Given the description of an element on the screen output the (x, y) to click on. 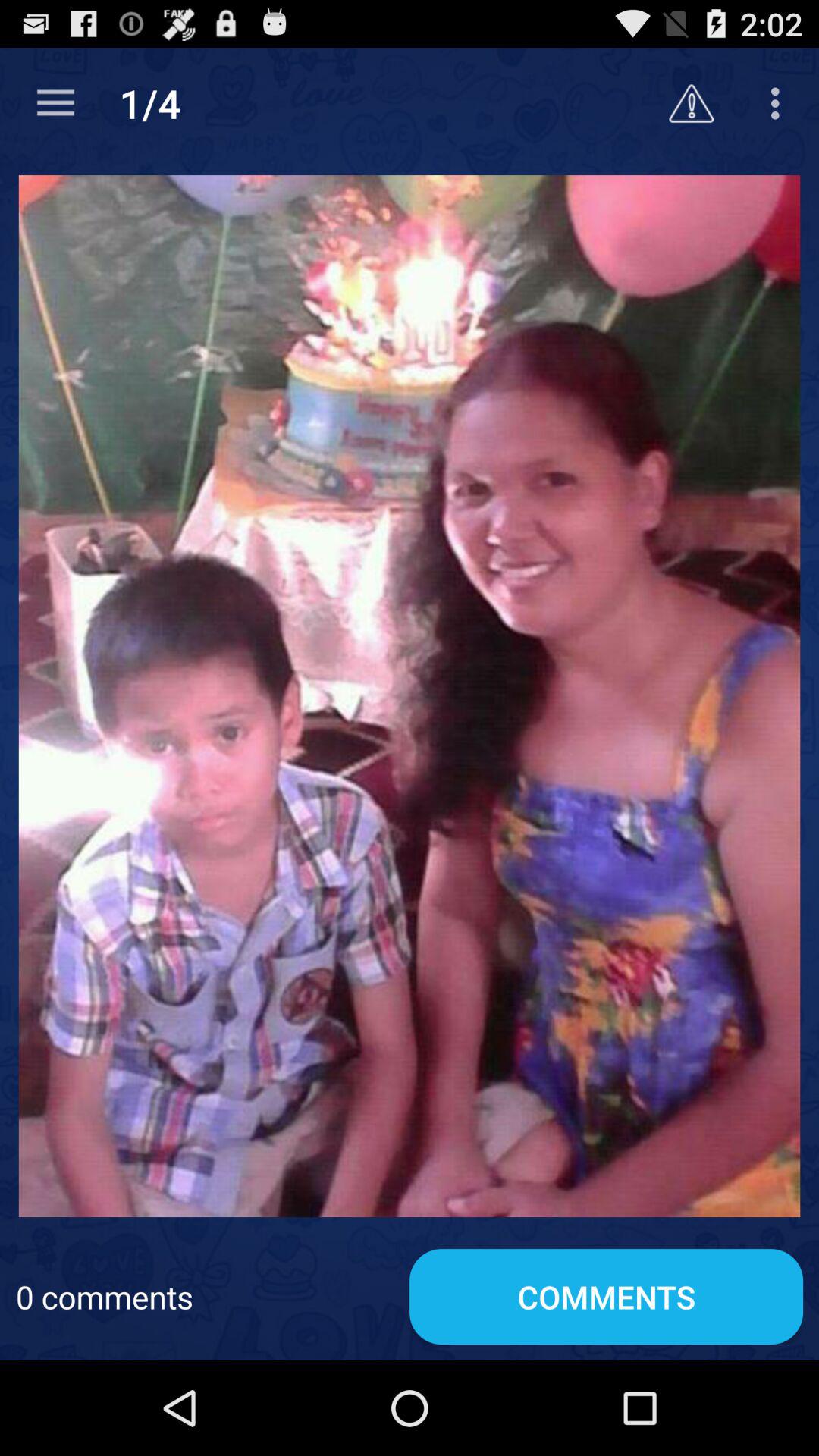
select item to the left of 1/4 icon (55, 103)
